Given the description of an element on the screen output the (x, y) to click on. 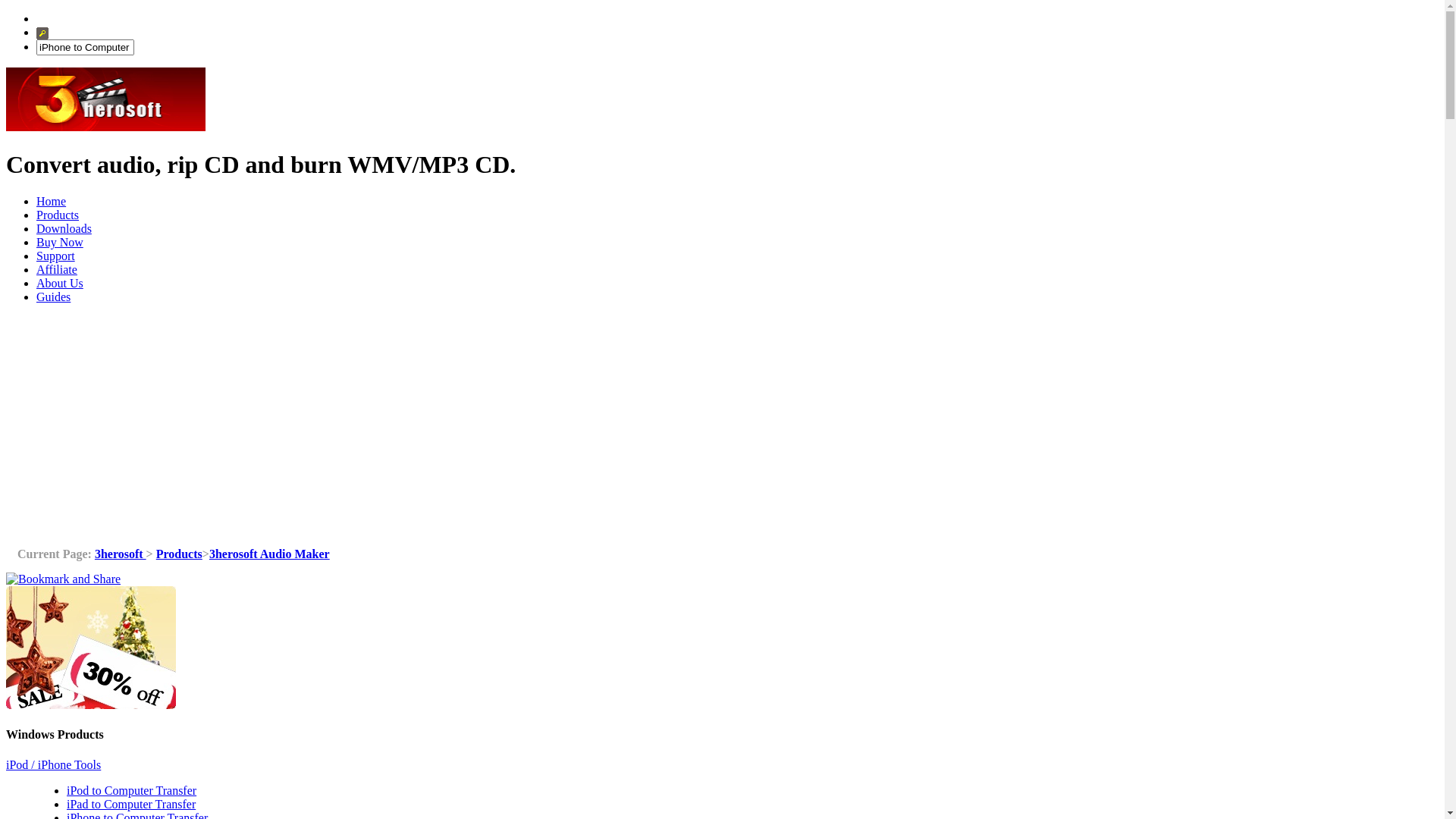
iPod to Computer Transfer Element type: text (131, 790)
3herosoft Element type: text (120, 553)
Home Element type: text (50, 200)
iPod / iPhone Tools Element type: text (53, 764)
Go Element type: hover (42, 33)
3herosoft Audio Maker Element type: text (269, 553)
Downloads Element type: text (63, 228)
Advertisement Element type: hover (721, 422)
Guides Element type: text (53, 296)
Products Element type: text (57, 214)
Affiliate Element type: text (56, 269)
Support Element type: text (55, 255)
Products Element type: text (179, 553)
Buy Now Element type: text (59, 241)
iPad to Computer Transfer Element type: text (130, 803)
About Us Element type: text (59, 282)
